Given the description of an element on the screen output the (x, y) to click on. 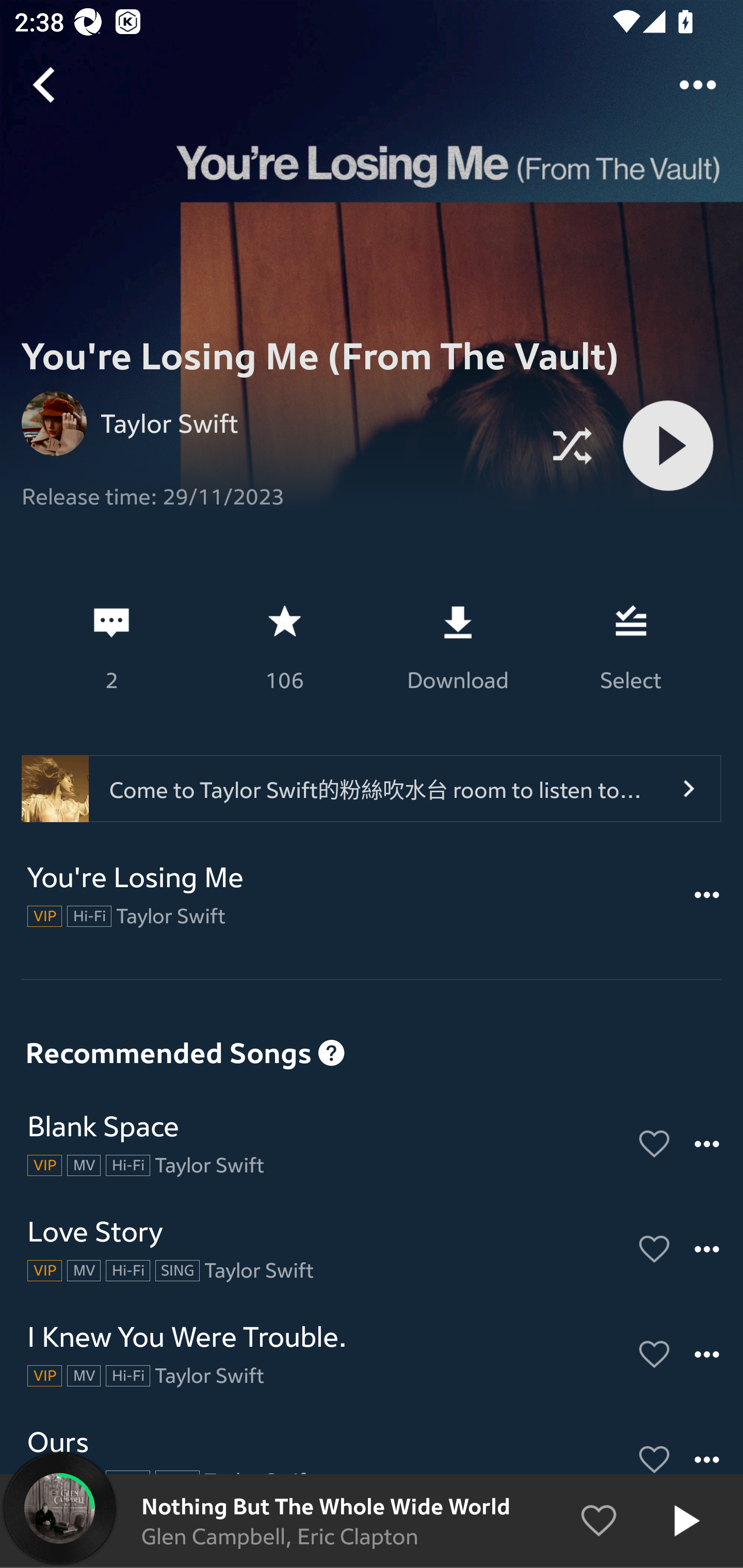
Taylor Swift (276, 423)
Taylor Swift (162, 423)
Release time: 29/11/2023 (276, 489)
2 (111, 647)
106 (284, 647)
Download (457, 647)
Select (630, 647)
You're Losing Me VIP Hi-Fi Taylor Swift (371, 895)
Recommended Songs (371, 1019)
Blank Space VIP MV Hi-Fi Taylor Swift (371, 1143)
Love Story VIP MV Hi-Fi SING Taylor Swift (371, 1248)
I Knew You Were Trouble. VIP MV Hi-Fi Taylor Swift (371, 1354)
